Given the description of an element on the screen output the (x, y) to click on. 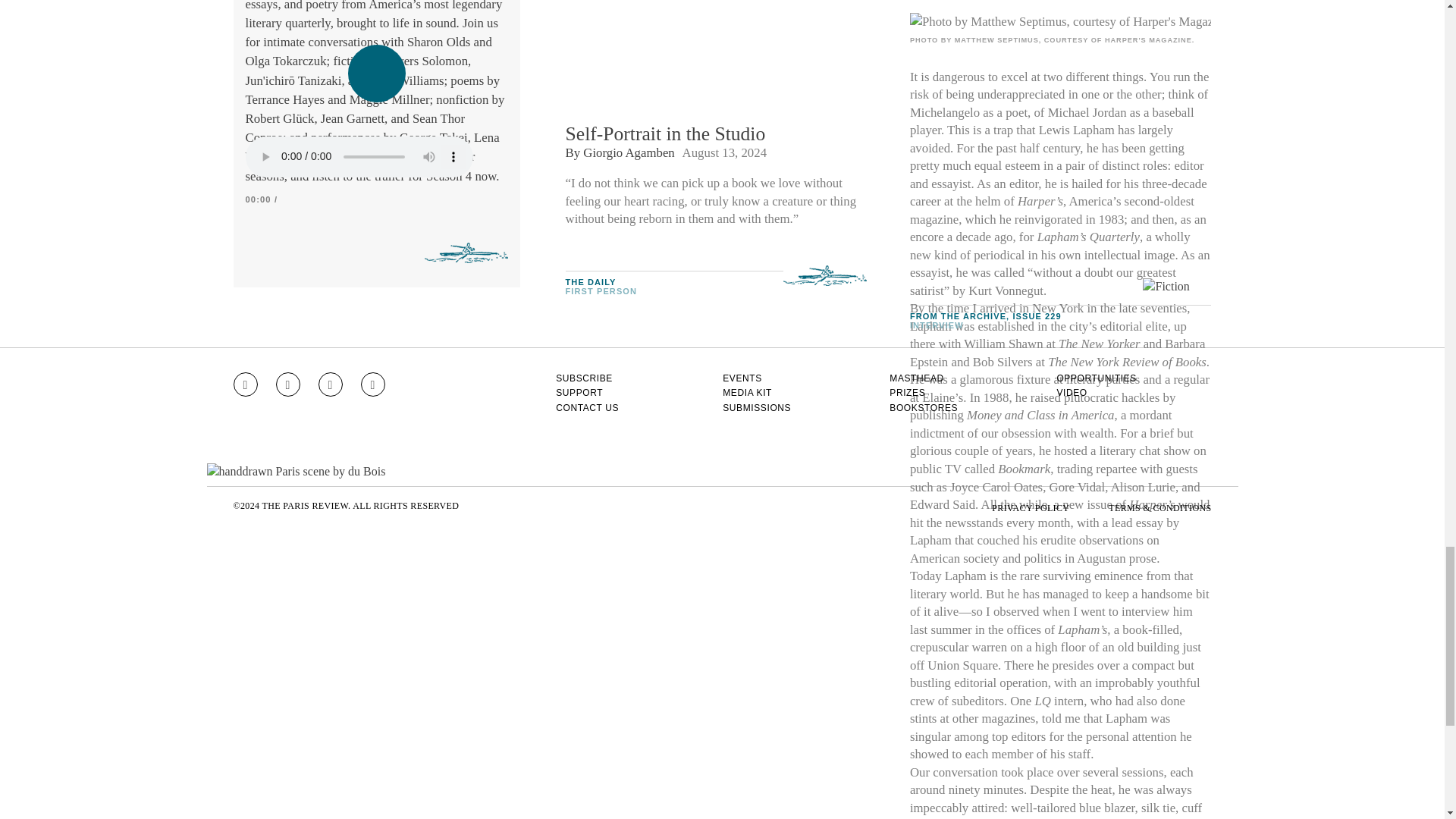
Go to RSS feed (373, 384)
Go to Facebook page (287, 384)
Go to Twitter feed (330, 384)
undefined (1060, 22)
Go to Instagram feed (244, 384)
